Given the description of an element on the screen output the (x, y) to click on. 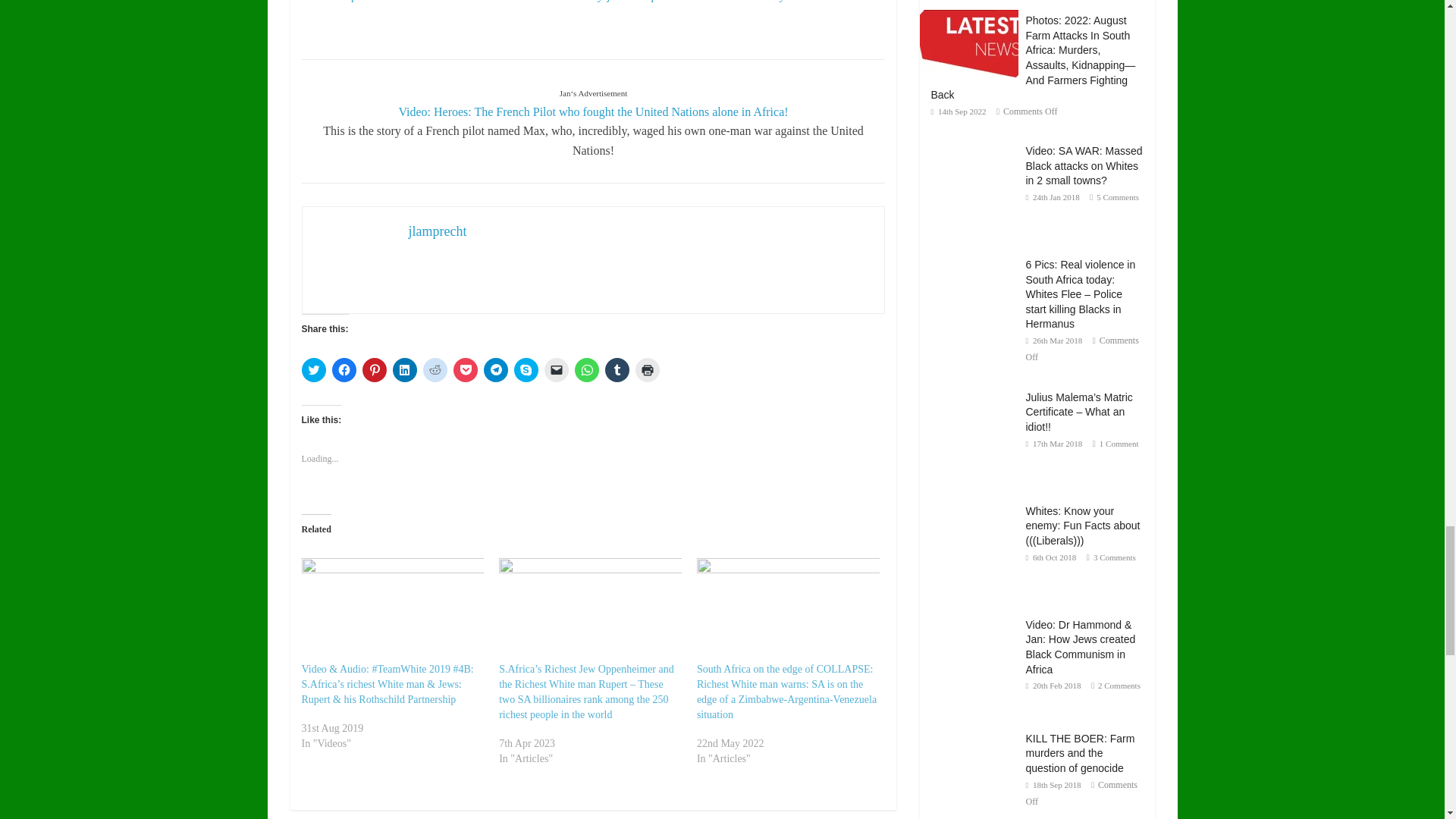
Click to share on Telegram (495, 369)
Click to share on Facebook (343, 369)
Click to share on LinkedIn (404, 369)
jlamprecht (436, 231)
Click to share on Pinterest (374, 369)
Click to share on Reddit (434, 369)
Click to share on Twitter (313, 369)
Click to share on Pocket (464, 369)
